Given the description of an element on the screen output the (x, y) to click on. 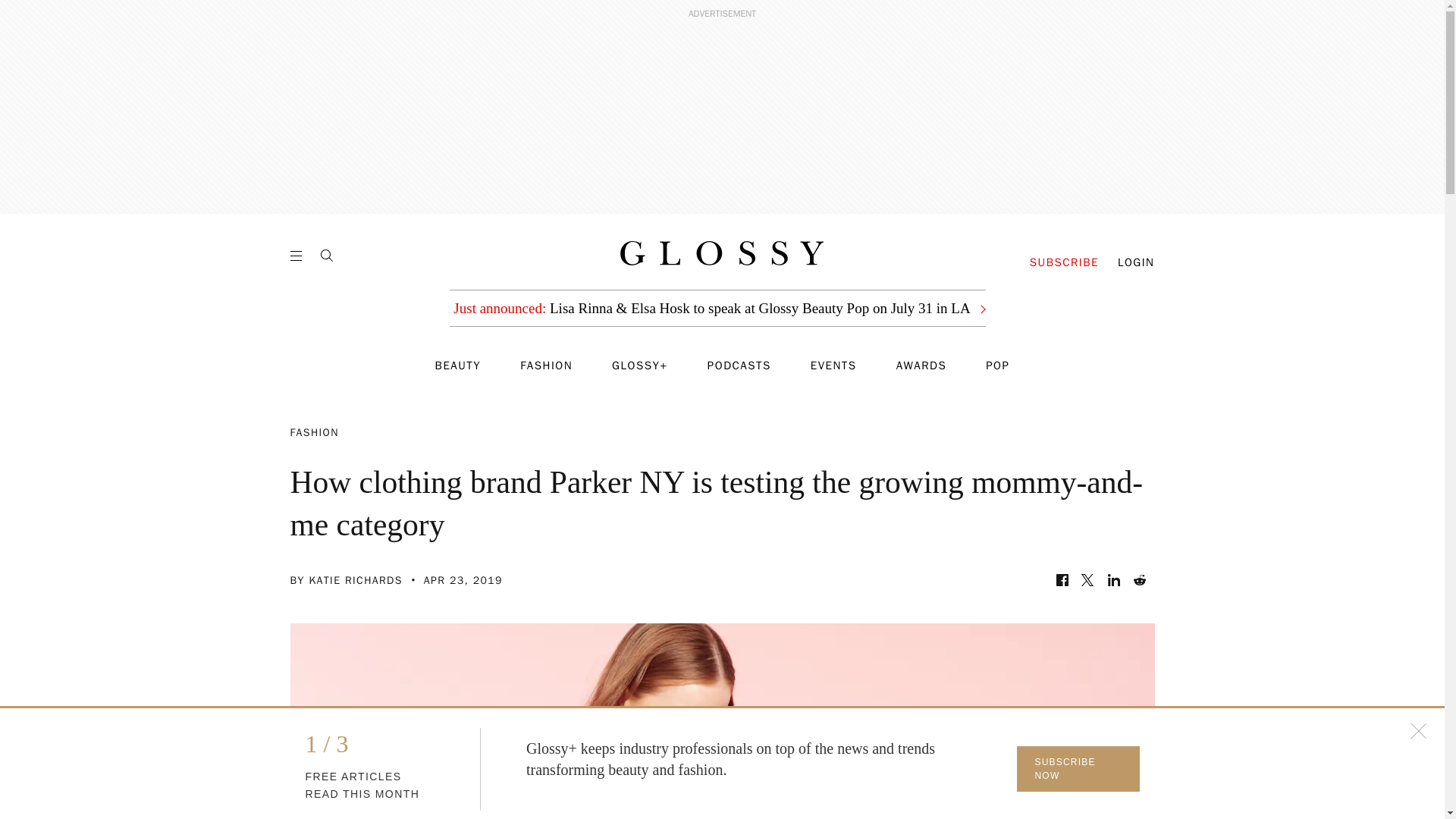
POP (997, 365)
BEAUTY (458, 365)
PODCASTS (739, 365)
EVENTS (833, 365)
SUBSCRIBE (1064, 262)
AWARDS (921, 365)
FASHION (545, 365)
LOGIN (1136, 262)
